Given the description of an element on the screen output the (x, y) to click on. 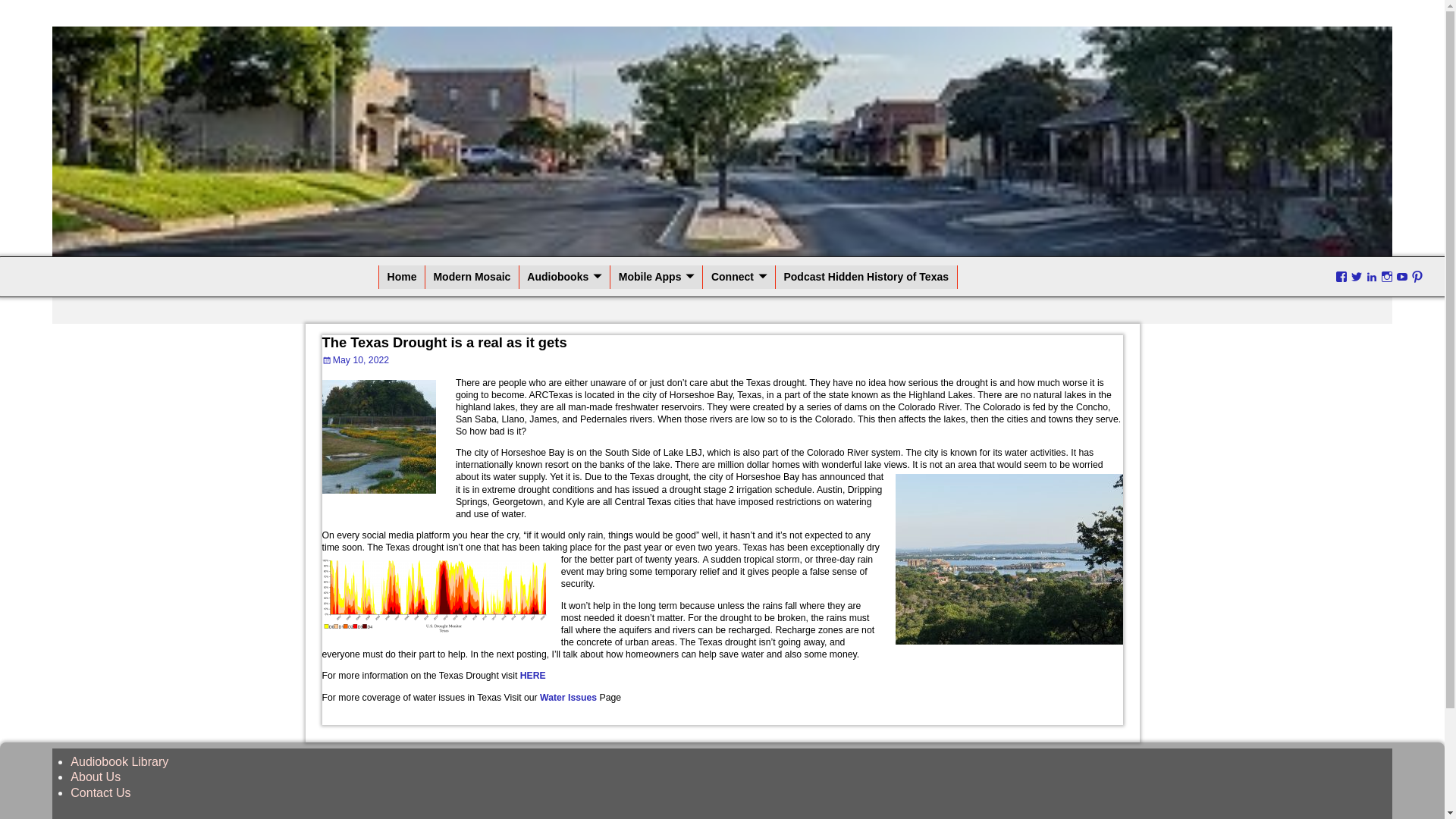
Instagram: Capture and Share the World's Moments (1386, 277)
Modern Mosaic (472, 277)
Connect (739, 277)
Audiobook Library (118, 761)
HERE (532, 675)
About Us (94, 776)
May 10, 2022 (354, 359)
Contact Us (100, 792)
Facebook: social networking (1341, 277)
YouTube: video sharing (1401, 277)
